Given the description of an element on the screen output the (x, y) to click on. 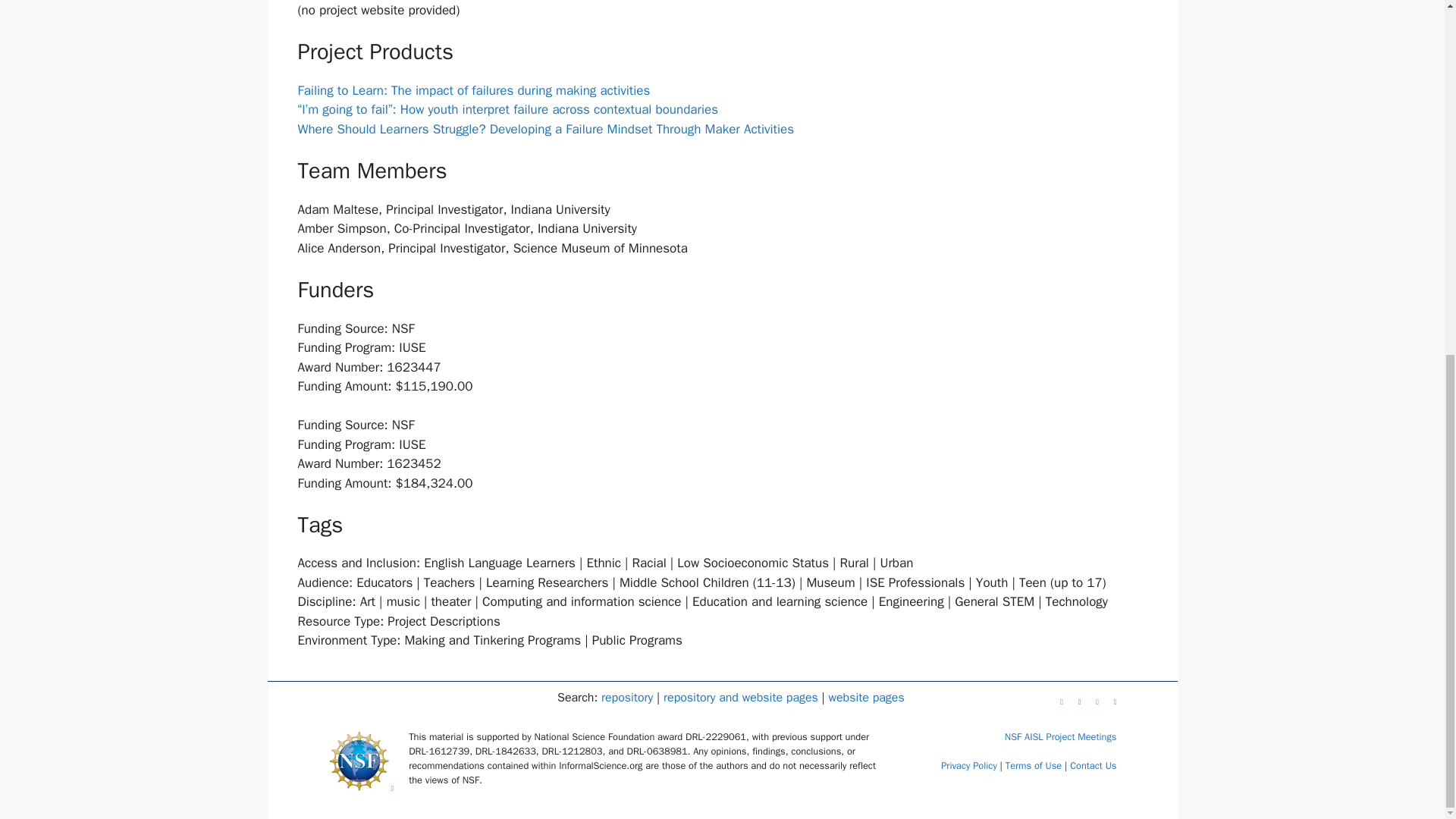
Contact Us (1093, 766)
repository (626, 697)
NSF AISL Project Meetings (1060, 736)
Youtube (1078, 700)
Instagram (1114, 700)
Linkedin (1060, 700)
Terms of Use (1033, 766)
repository and website pages (740, 697)
website pages (866, 697)
Privacy Policy (968, 766)
Facebook (1096, 700)
